Given the description of an element on the screen output the (x, y) to click on. 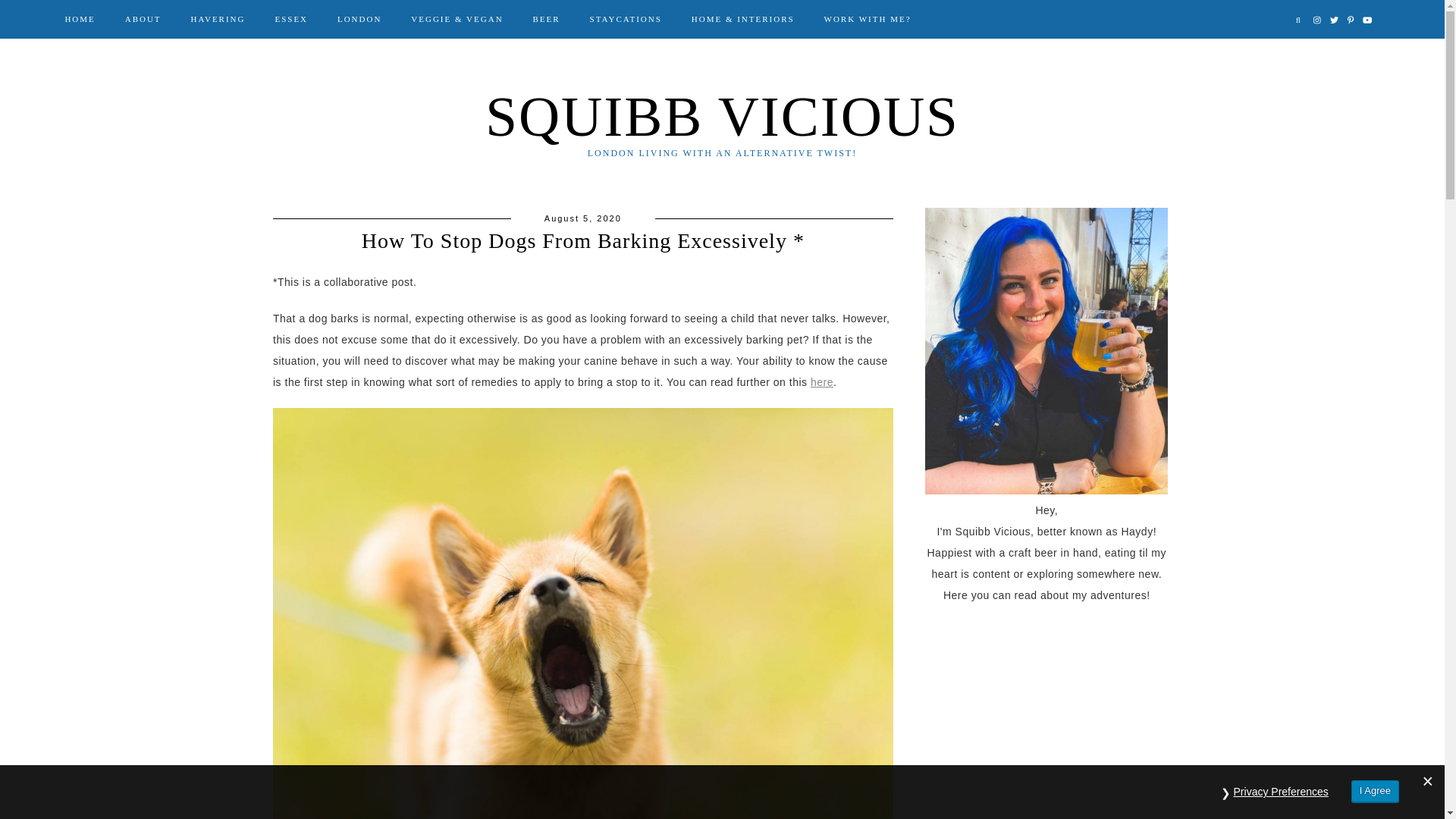
LONDON (359, 18)
BEER (546, 18)
here (821, 381)
HAVERING (218, 18)
ABOUT (143, 18)
ESSEX (290, 18)
WORK WITH ME? (867, 18)
STAYCATIONS (625, 18)
SQUIBB VICIOUS (721, 116)
HOME (79, 18)
